Given the description of an element on the screen output the (x, y) to click on. 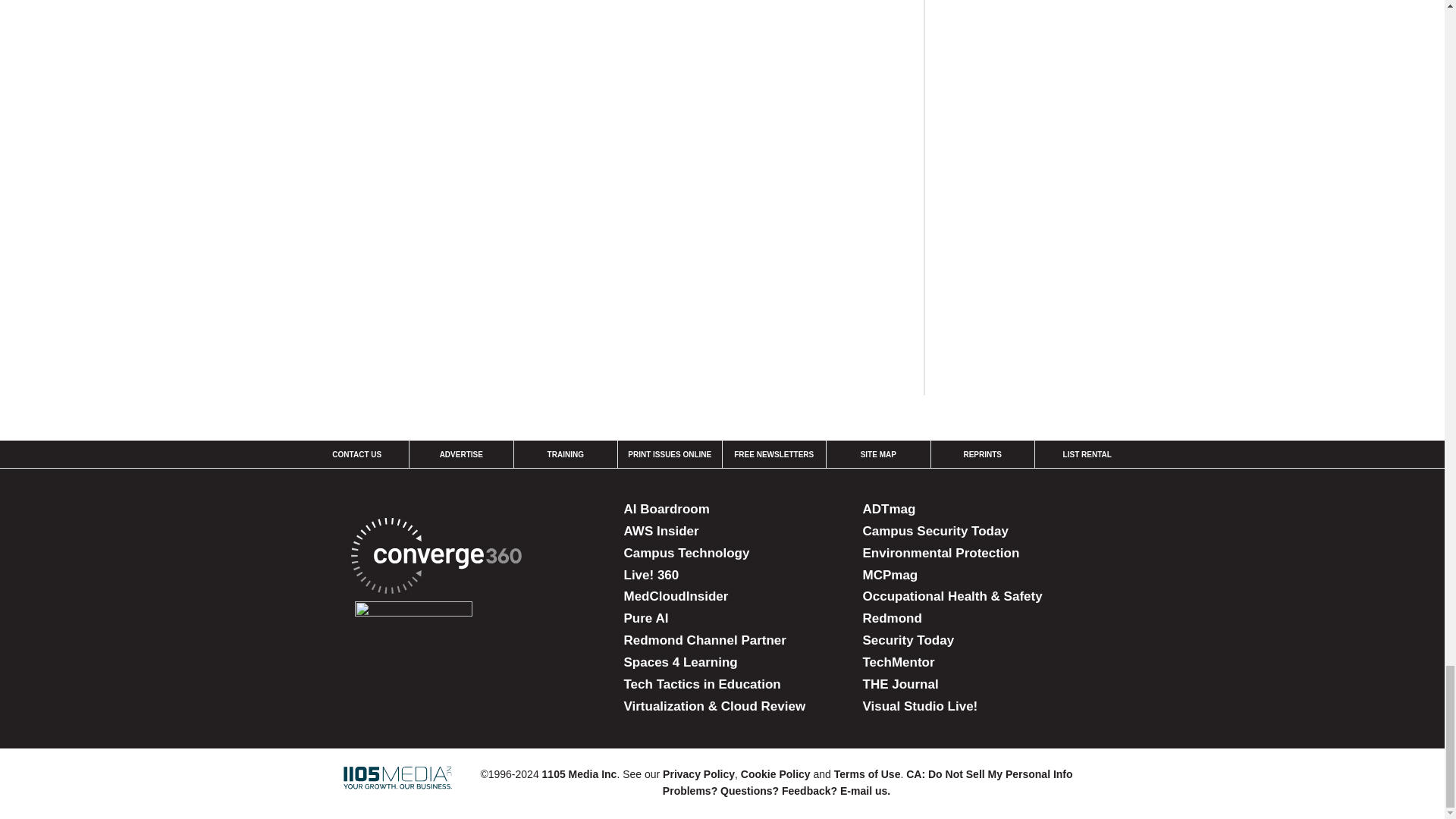
3rd party ad content (1059, 64)
3rd party ad content (1059, 262)
